Given the description of an element on the screen output the (x, y) to click on. 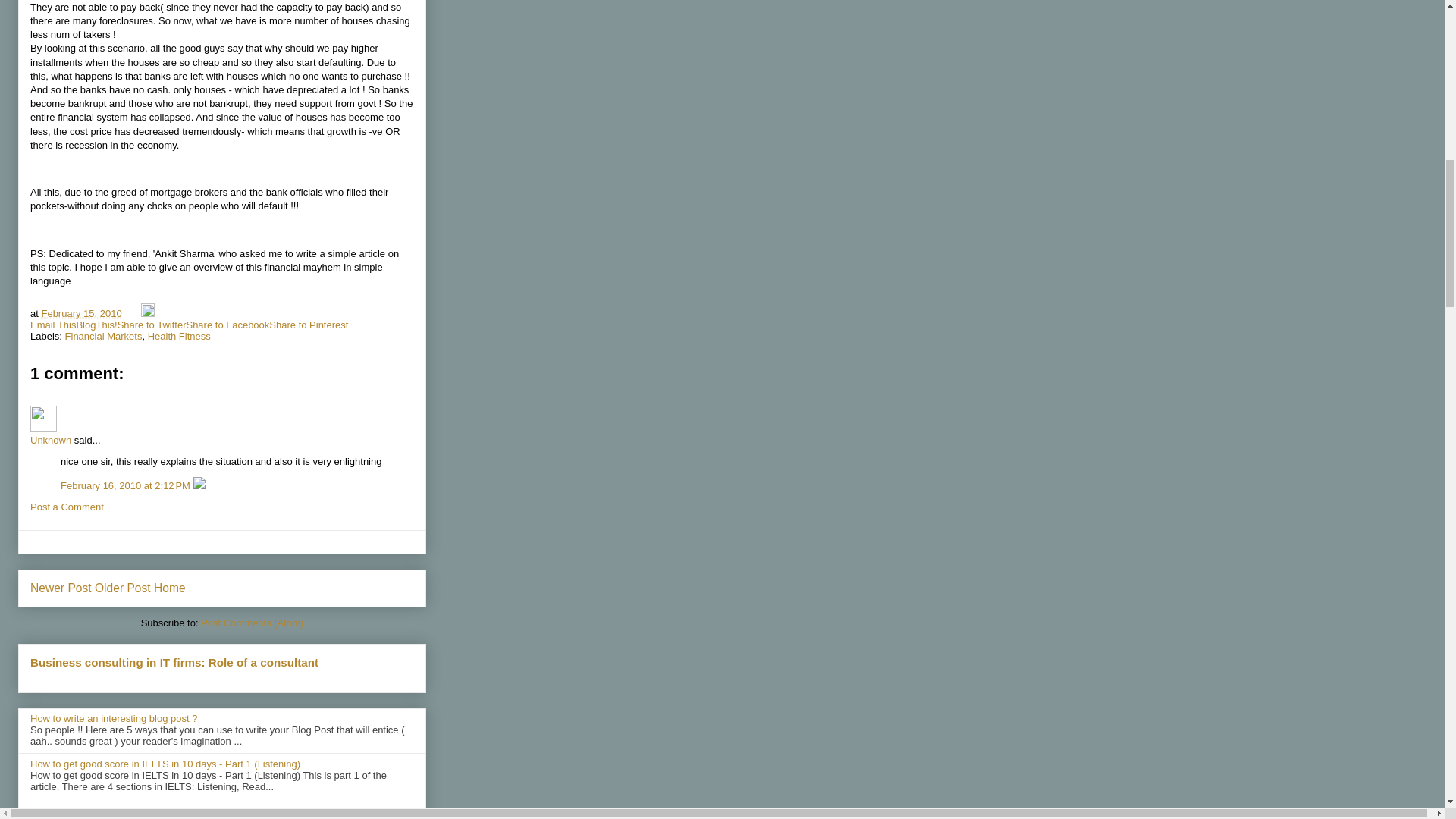
Business consulting in IT firms: Role of a consultant (174, 662)
Share to Pinterest (308, 324)
Email Post (132, 313)
Email This (52, 324)
February 15, 2010 (80, 313)
Post a Comment (66, 506)
Share to Twitter (151, 324)
Newer Post (60, 587)
comment permalink (127, 485)
Older Post (122, 587)
Unknown (50, 439)
Email This (52, 324)
permanent link (80, 313)
Edit Post (147, 313)
